Given the description of an element on the screen output the (x, y) to click on. 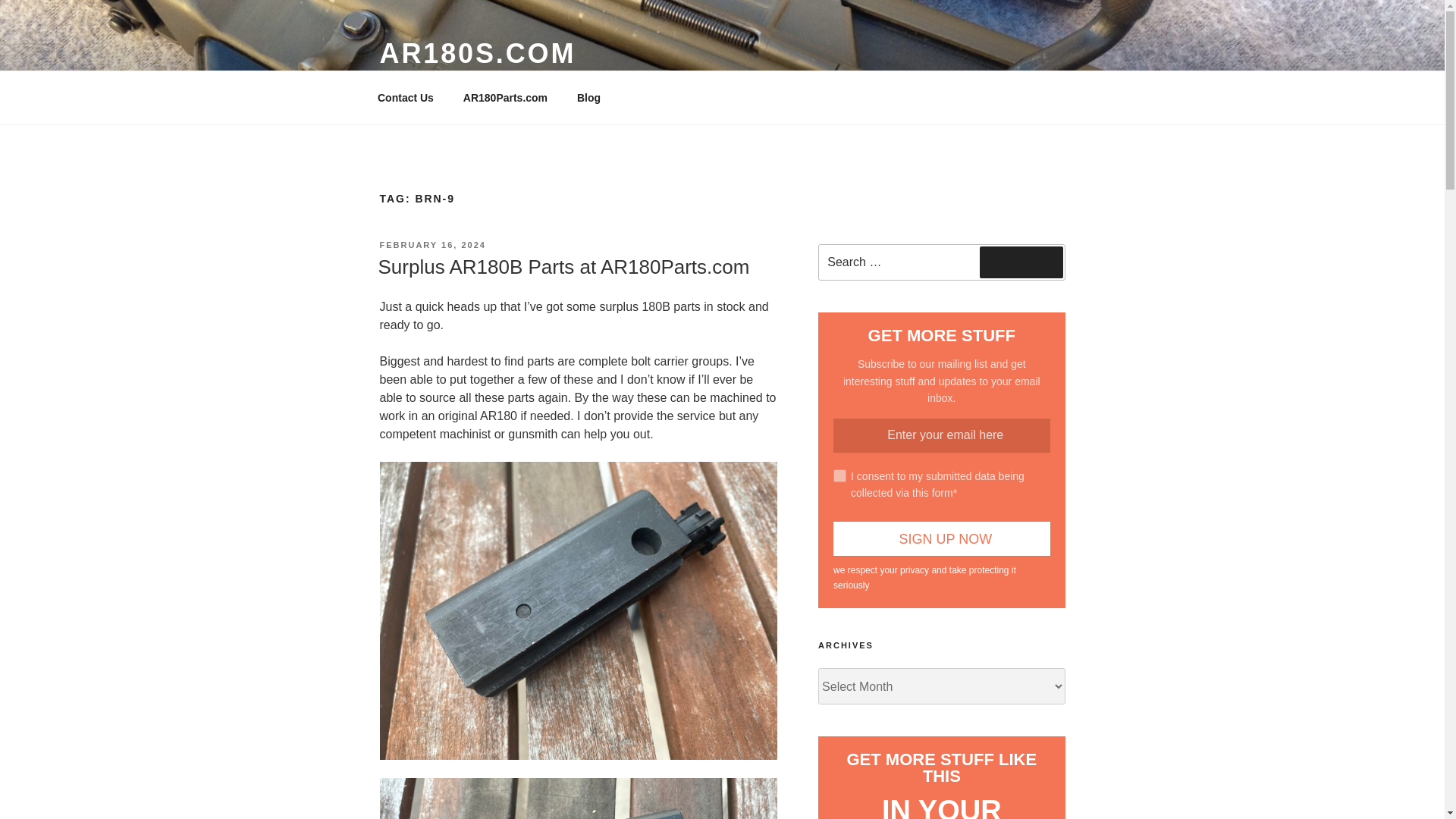
Sign Up Now (940, 538)
Enter your email here (940, 435)
AR180Parts.com (504, 97)
AR180S.COM (476, 52)
Blog (587, 97)
FEBRUARY 16, 2024 (431, 244)
Surplus AR180B Parts at AR180Parts.com (563, 266)
on (838, 475)
Contact Us (405, 97)
Search (1020, 262)
